Given the description of an element on the screen output the (x, y) to click on. 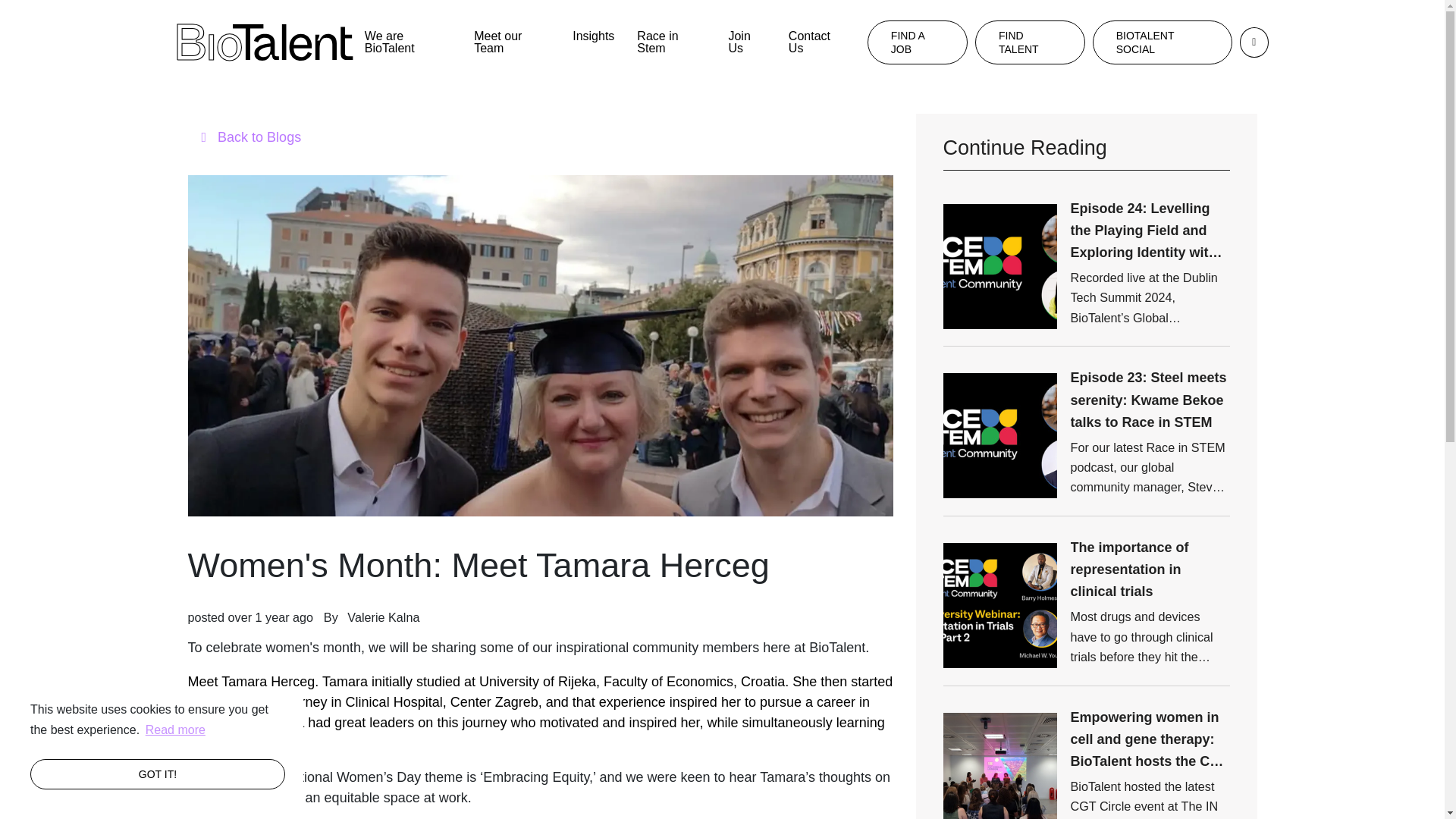
Insights (593, 36)
Contact Us (816, 42)
GOT IT! (157, 774)
Read more (175, 730)
Go to the Homepage (264, 41)
Back to Blogs (540, 137)
Race in Stem (671, 42)
BIOTALENT SOCIAL (1162, 42)
